Given the description of an element on the screen output the (x, y) to click on. 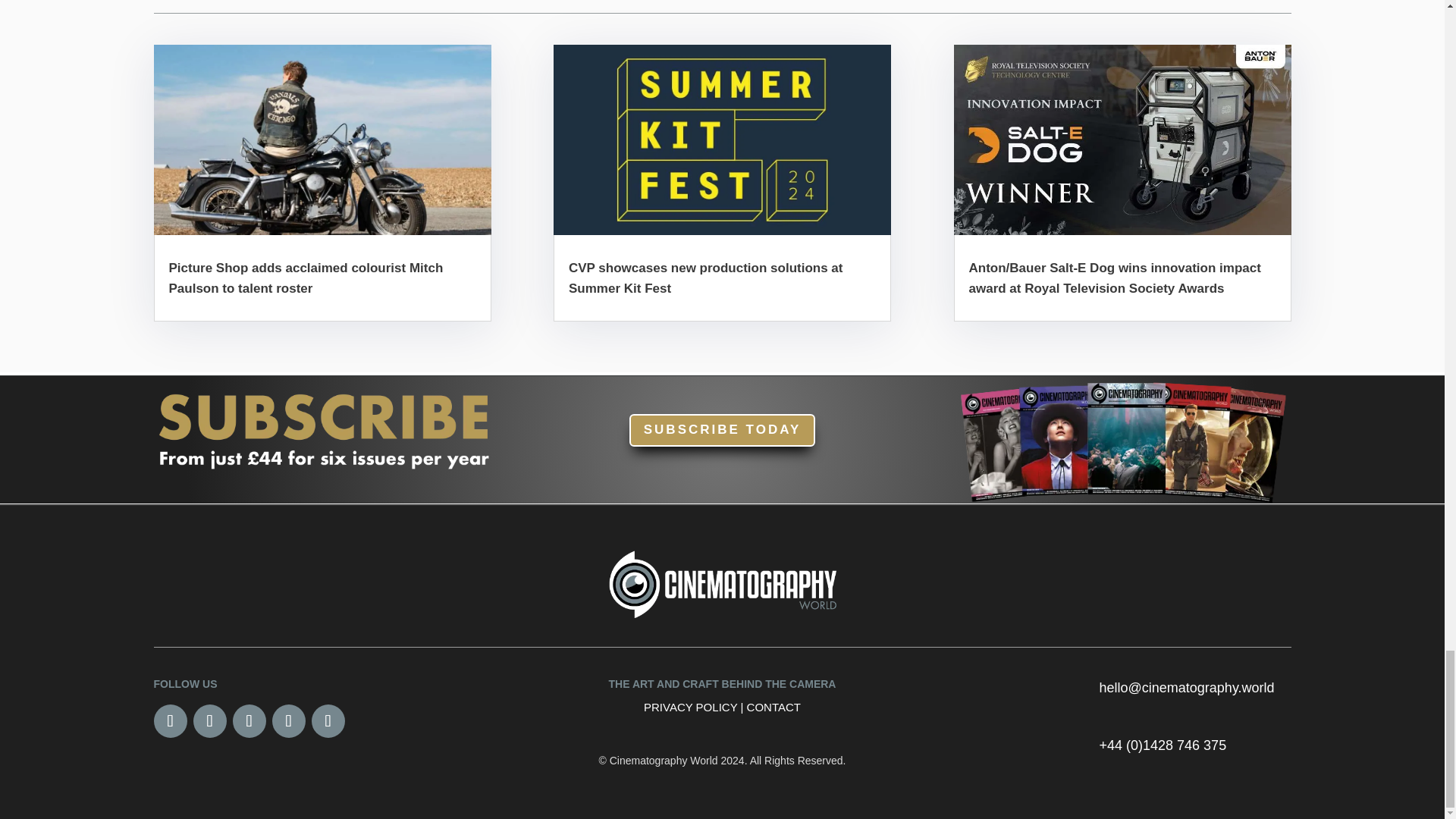
Follow on Facebook (169, 720)
subscribe-wide-web-mags (1122, 439)
sub1 (321, 427)
